Given the description of an element on the screen output the (x, y) to click on. 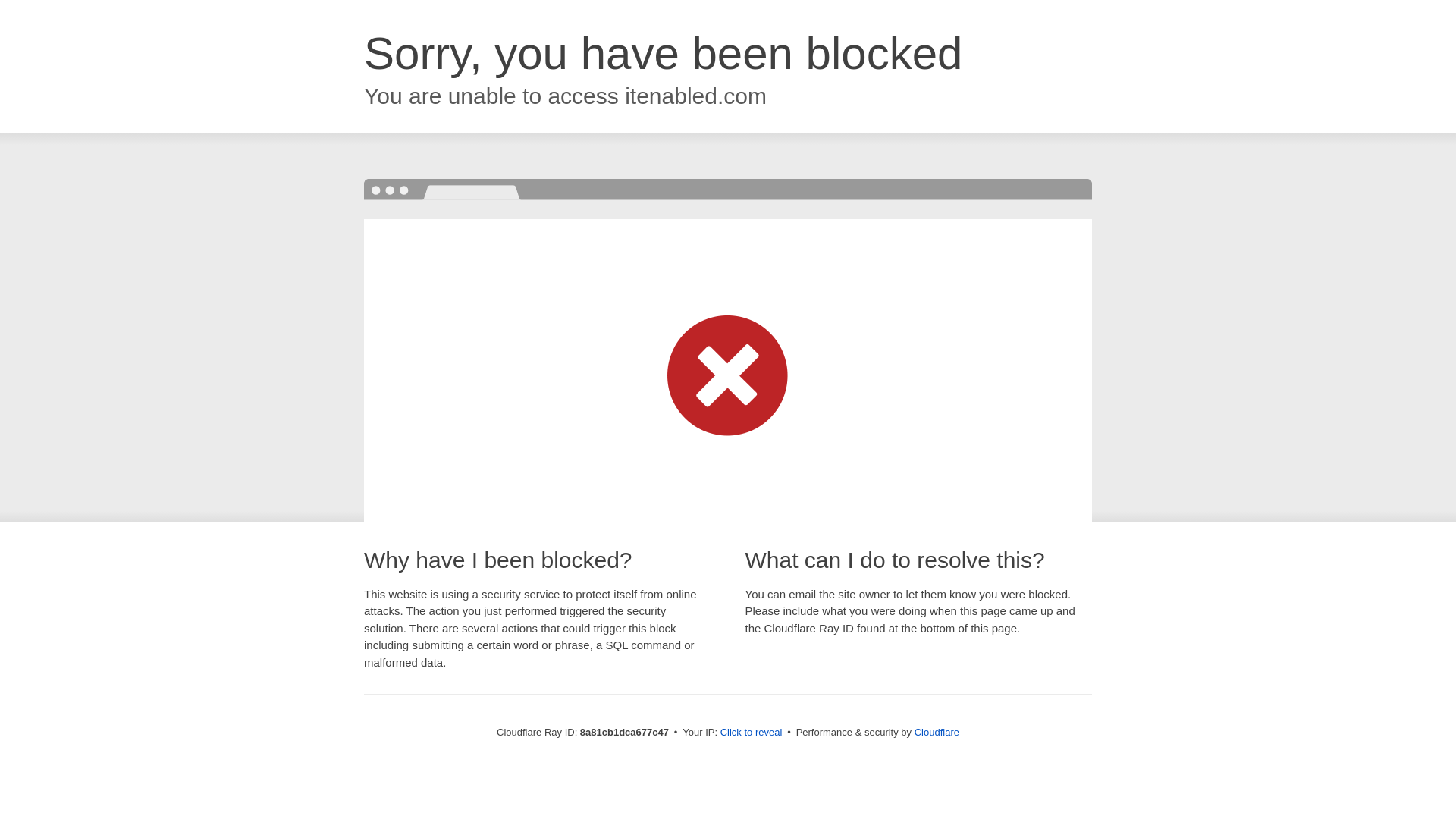
Cloudflare (936, 731)
Click to reveal (751, 732)
